Given the description of an element on the screen output the (x, y) to click on. 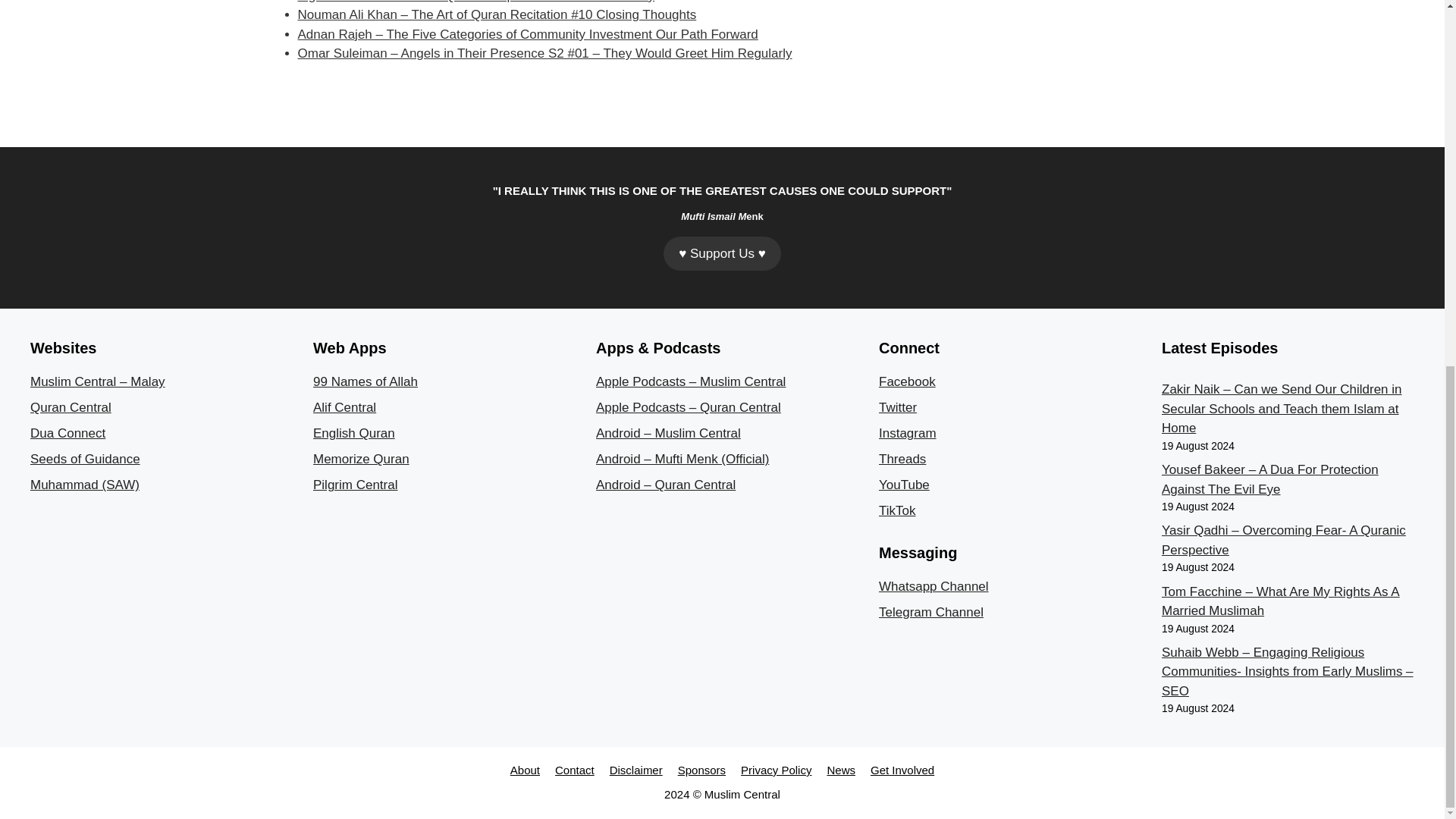
English Quran (353, 432)
Memorize Quran (361, 459)
99 Names of Allah (365, 381)
Alif Central (344, 407)
Dua Connect (67, 432)
Seeds of Guidance (84, 459)
Pilgrim Central (355, 484)
Quran Central (71, 407)
